Given the description of an element on the screen output the (x, y) to click on. 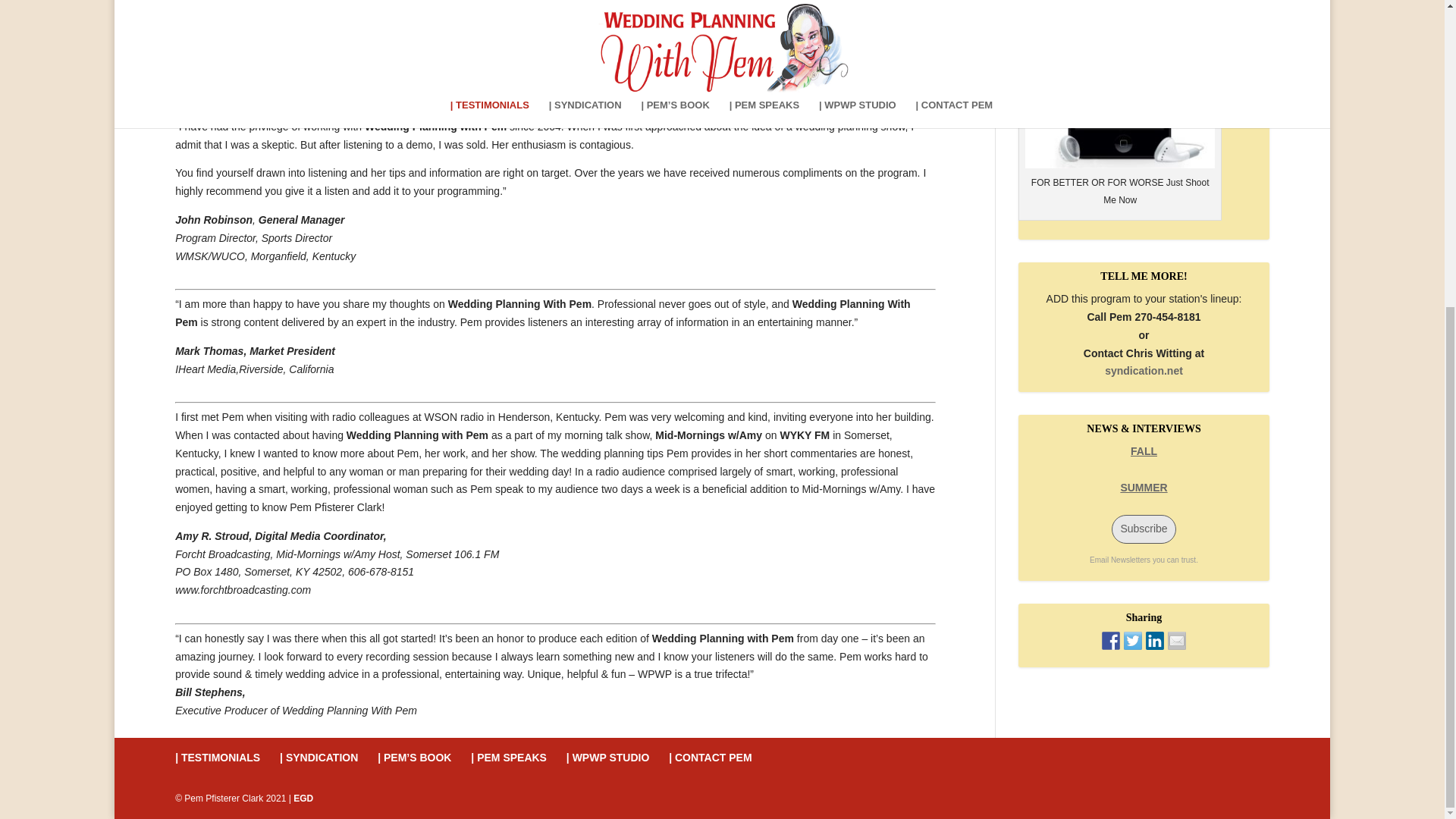
Subscribe (1143, 529)
syndication.net (1143, 370)
EGD (303, 798)
Share on Facebook (1110, 640)
FALL (1144, 451)
SUMMER (1143, 487)
AMAZON BOOKS (1119, 84)
Share on Linkedin (1154, 640)
Share on Twitter (1132, 640)
Share by email (1176, 640)
